Given the description of an element on the screen output the (x, y) to click on. 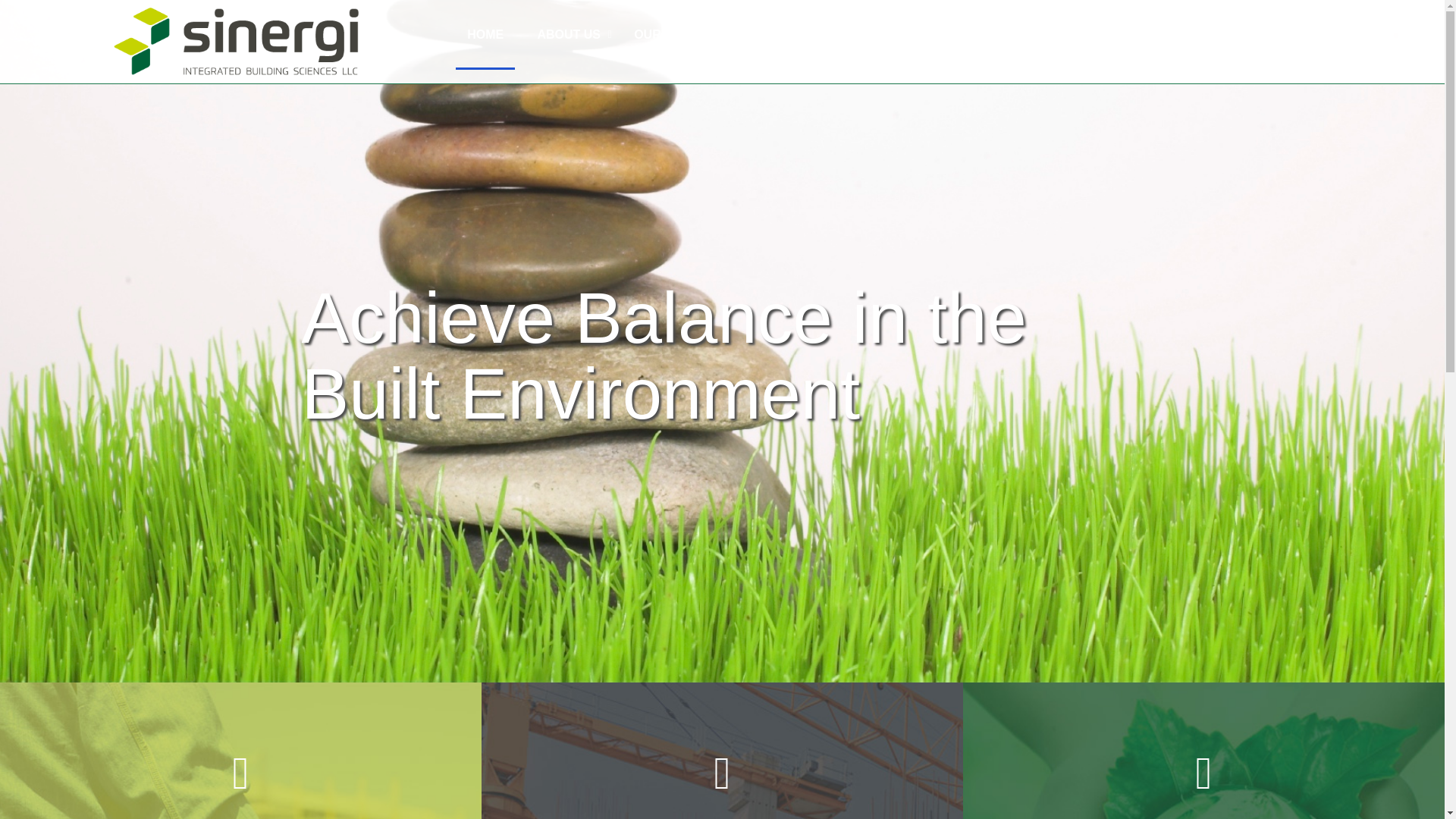
OUR SERVICES (679, 34)
PROJECTS (791, 34)
ABOUT US (568, 34)
CONTACT (886, 34)
HOME (485, 34)
